Given the description of an element on the screen output the (x, y) to click on. 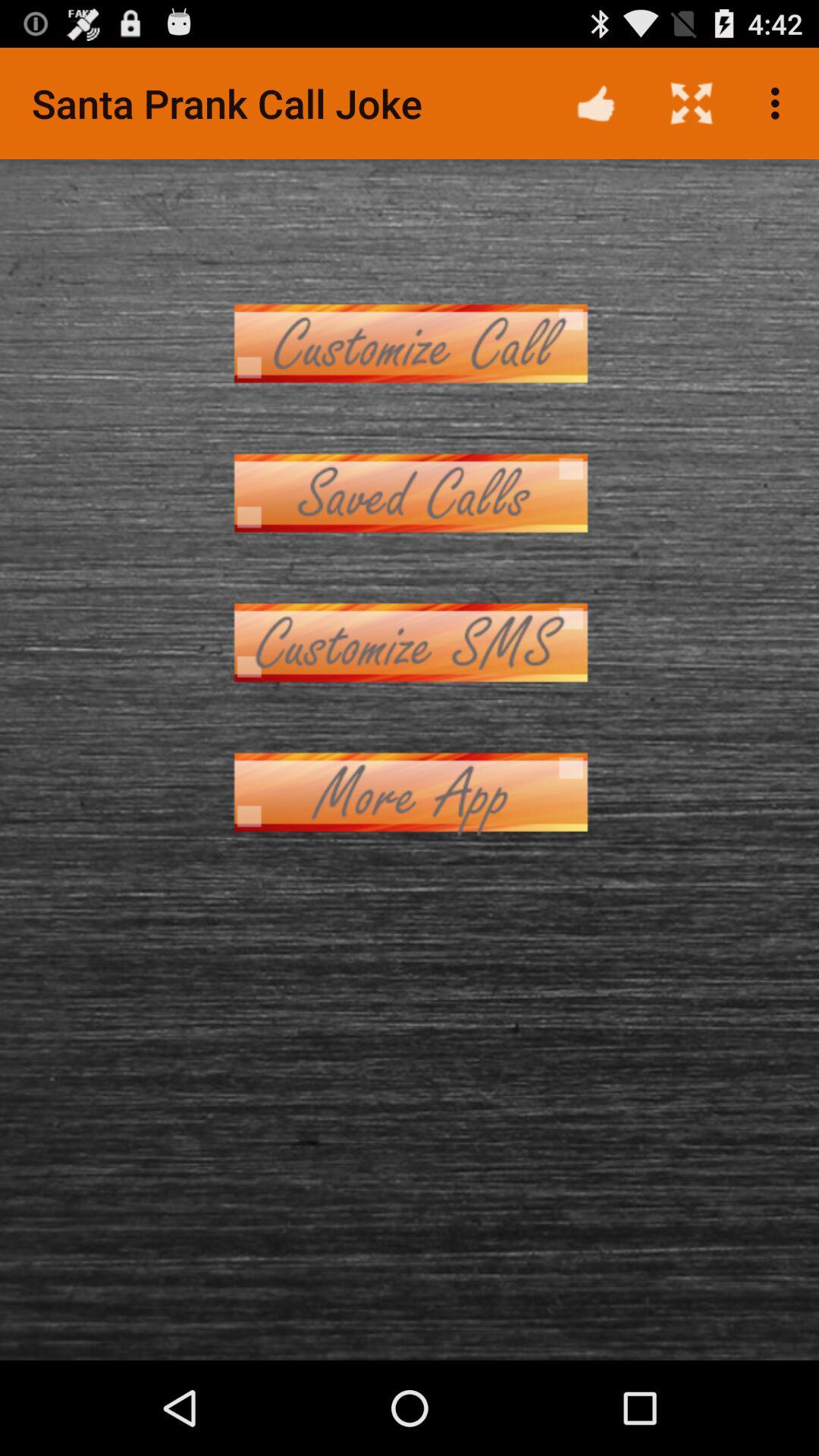
customize sms message (409, 642)
